Given the description of an element on the screen output the (x, y) to click on. 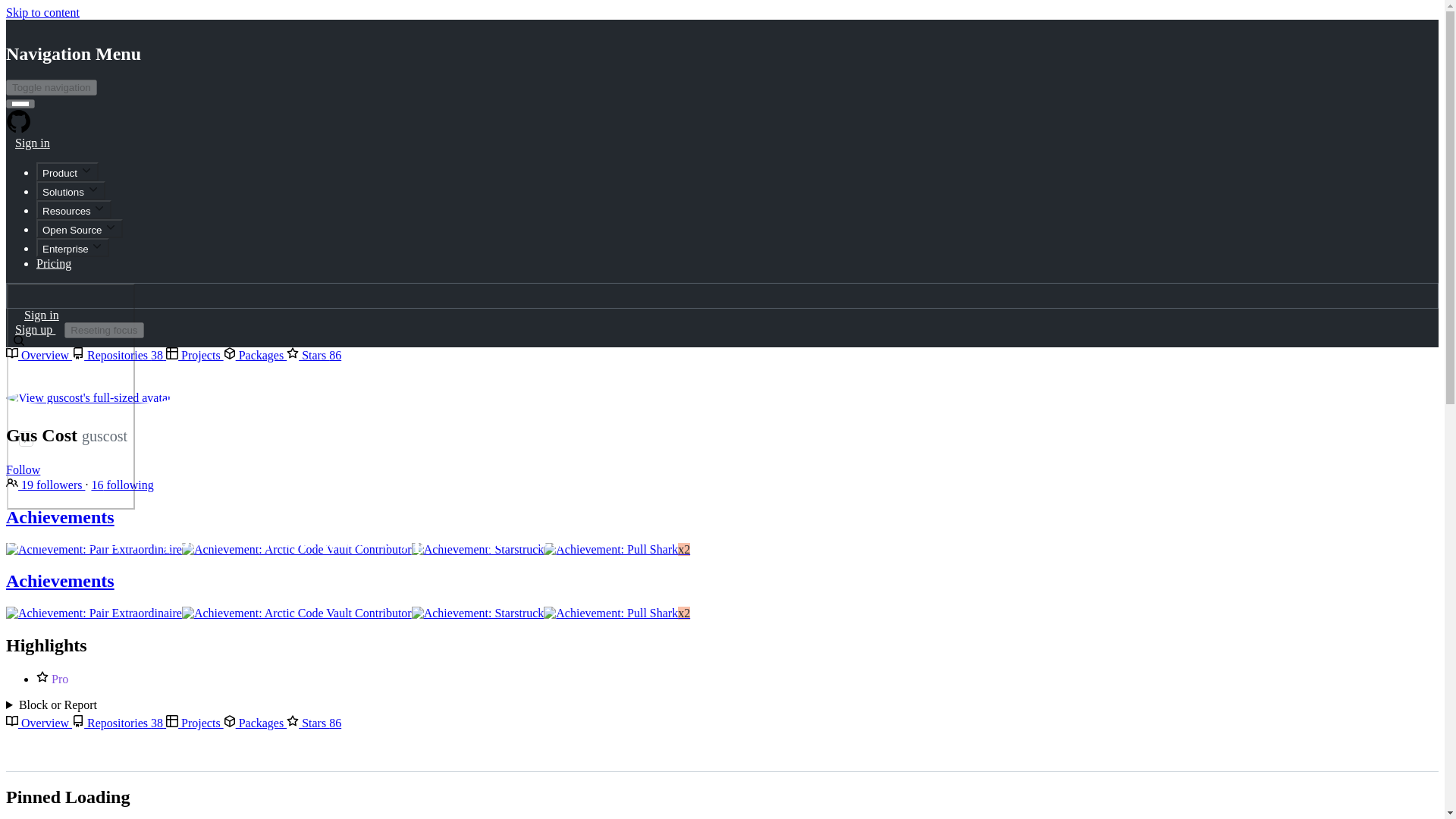
86 (334, 722)
38 (157, 354)
Open Source (79, 228)
Sign in (32, 142)
Product (67, 171)
Resources (74, 209)
Label: Pro (59, 678)
Skip to content (42, 11)
Solutions (70, 189)
